Given the description of an element on the screen output the (x, y) to click on. 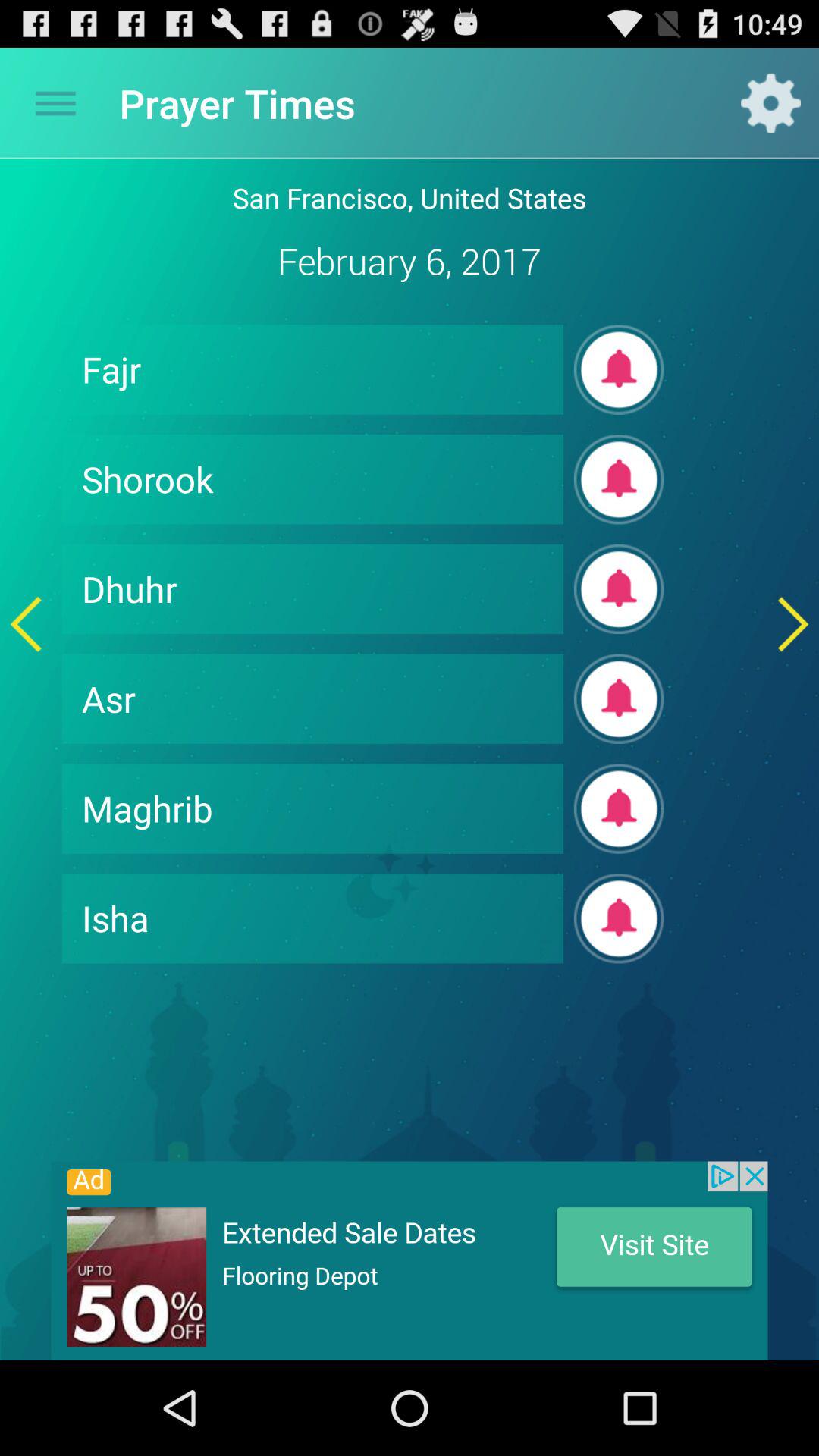
turn on notifications (618, 808)
